Given the description of an element on the screen output the (x, y) to click on. 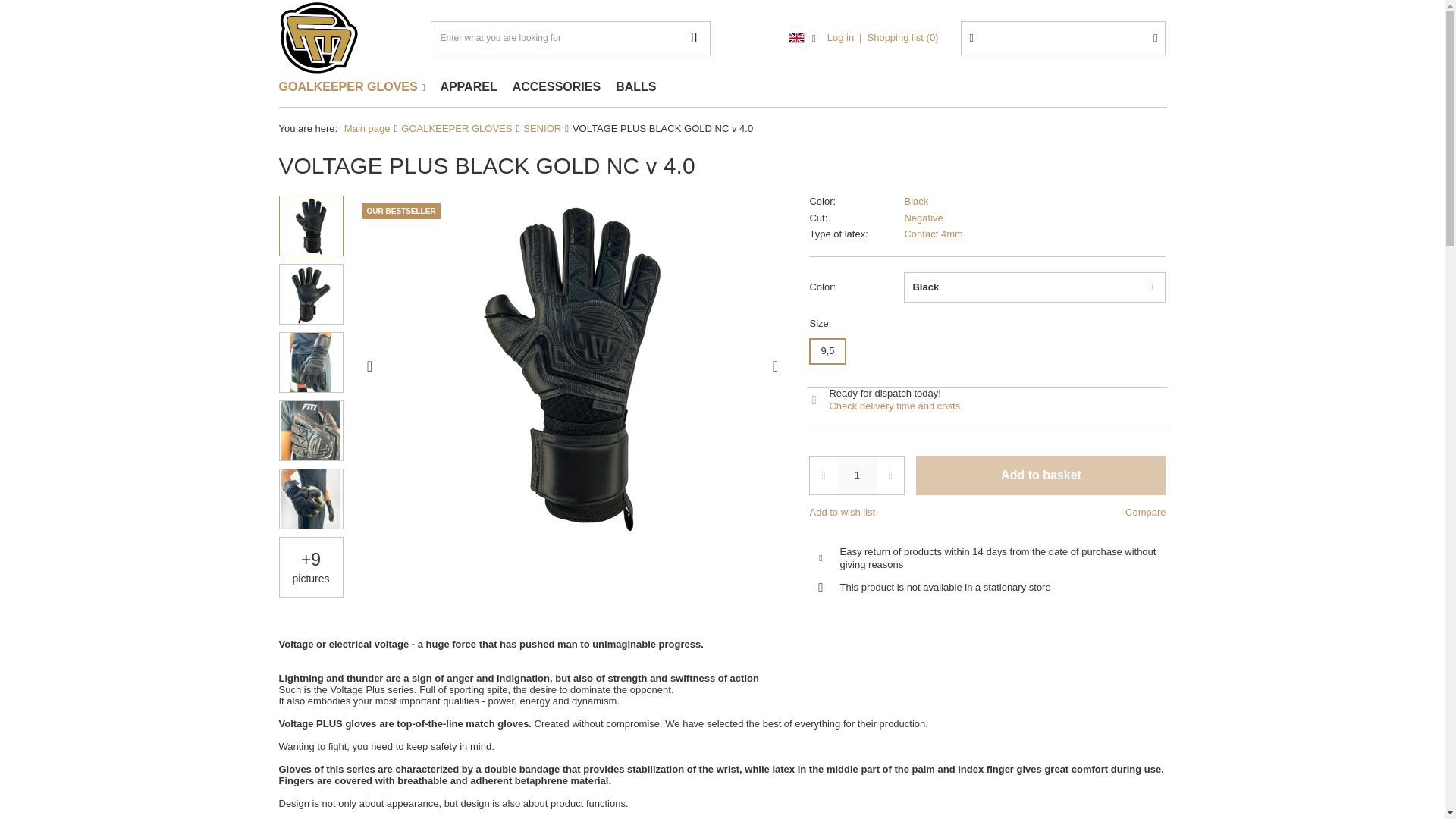
GOALKEEPER GLOVES (456, 128)
Main page (366, 128)
APPAREL (467, 87)
1 (856, 475)
GOALKEEPER GLOVES (351, 87)
Shopping list 0 (903, 38)
ACCESSORIES (556, 87)
GOALKEEPER GLOVES (351, 87)
BALLS (635, 87)
SENIOR (541, 128)
APPAREL (467, 87)
BALLS (635, 87)
Log in (847, 38)
ACCESSORIES (556, 87)
